Given the description of an element on the screen output the (x, y) to click on. 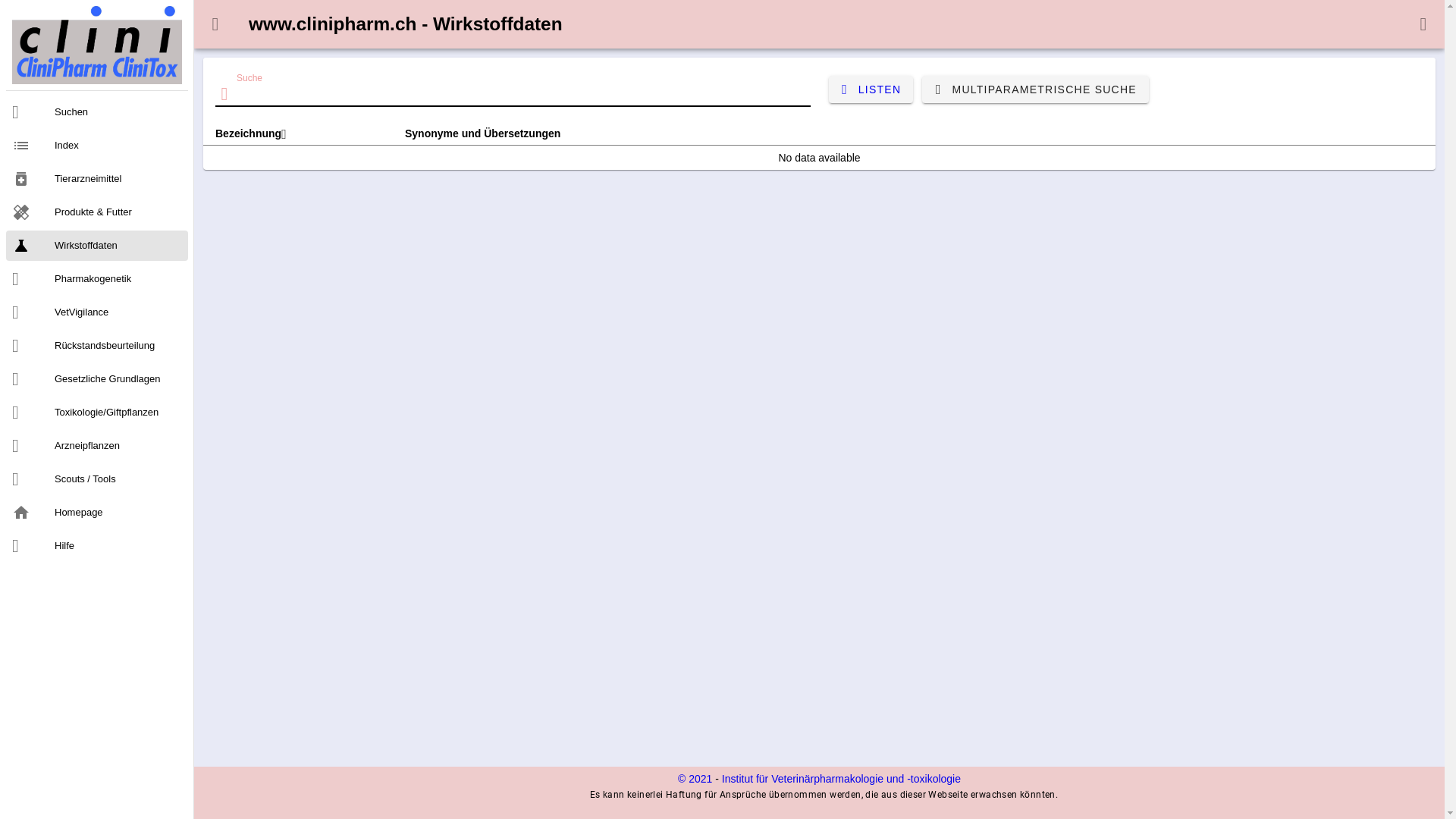
Arzneipflanzen Element type: text (97, 445)
VetVigilance Element type: text (97, 312)
Toxikologie/Giftpflanzen Element type: text (97, 412)
science
Wirkstoffdaten Element type: text (97, 245)
home
Homepage Element type: text (97, 512)
Scouts / Tools Element type: text (97, 479)
Suchen Element type: text (97, 112)
medication
Tierarzneimittel Element type: text (97, 178)
MULTIPARAMETRISCHE SUCHE Element type: text (1035, 89)
list
Index Element type: text (97, 145)
Hilfe Element type: text (97, 545)
healing
Produkte & Futter Element type: text (97, 212)
Pharmakogenetik Element type: text (97, 278)
LISTEN Element type: text (870, 89)
Gesetzliche Grundlagen Element type: text (97, 379)
